Given the description of an element on the screen output the (x, y) to click on. 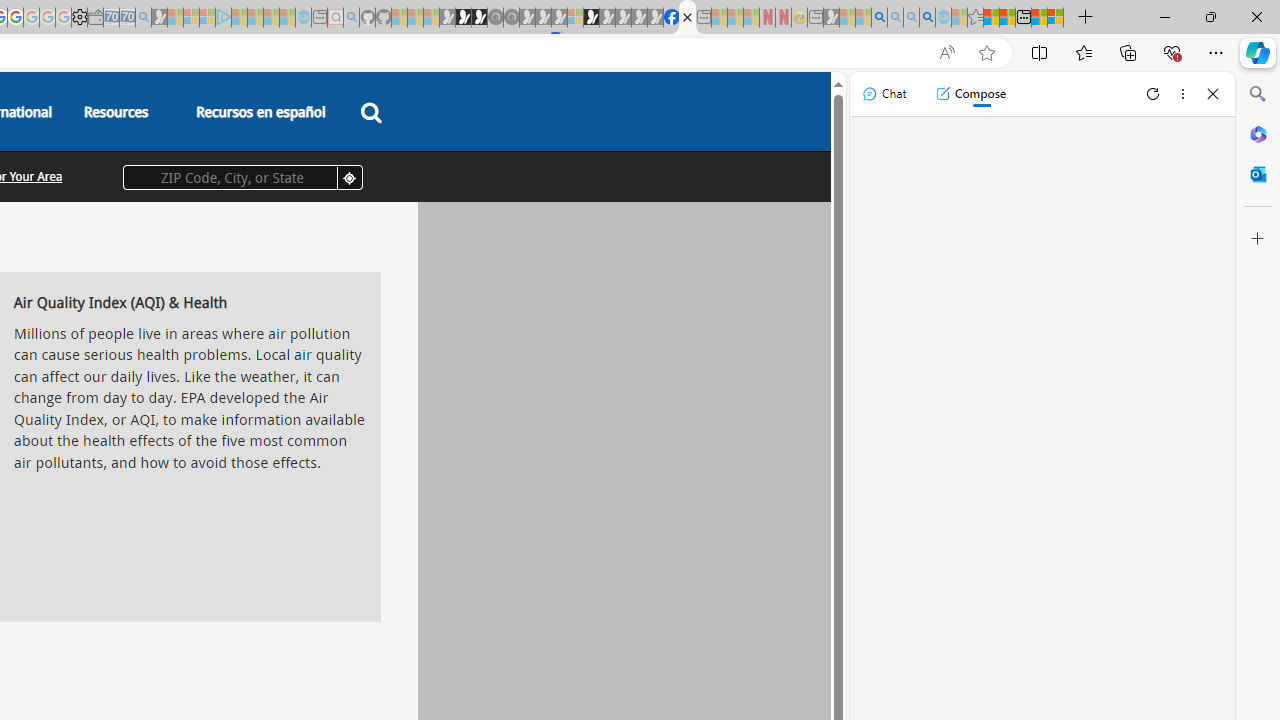
Favorites - Sleeping (975, 17)
Aberdeen, Hong Kong SAR weather forecast | Microsoft Weather (1007, 17)
ZIP Code, City, or State (242, 177)
